Given the description of an element on the screen output the (x, y) to click on. 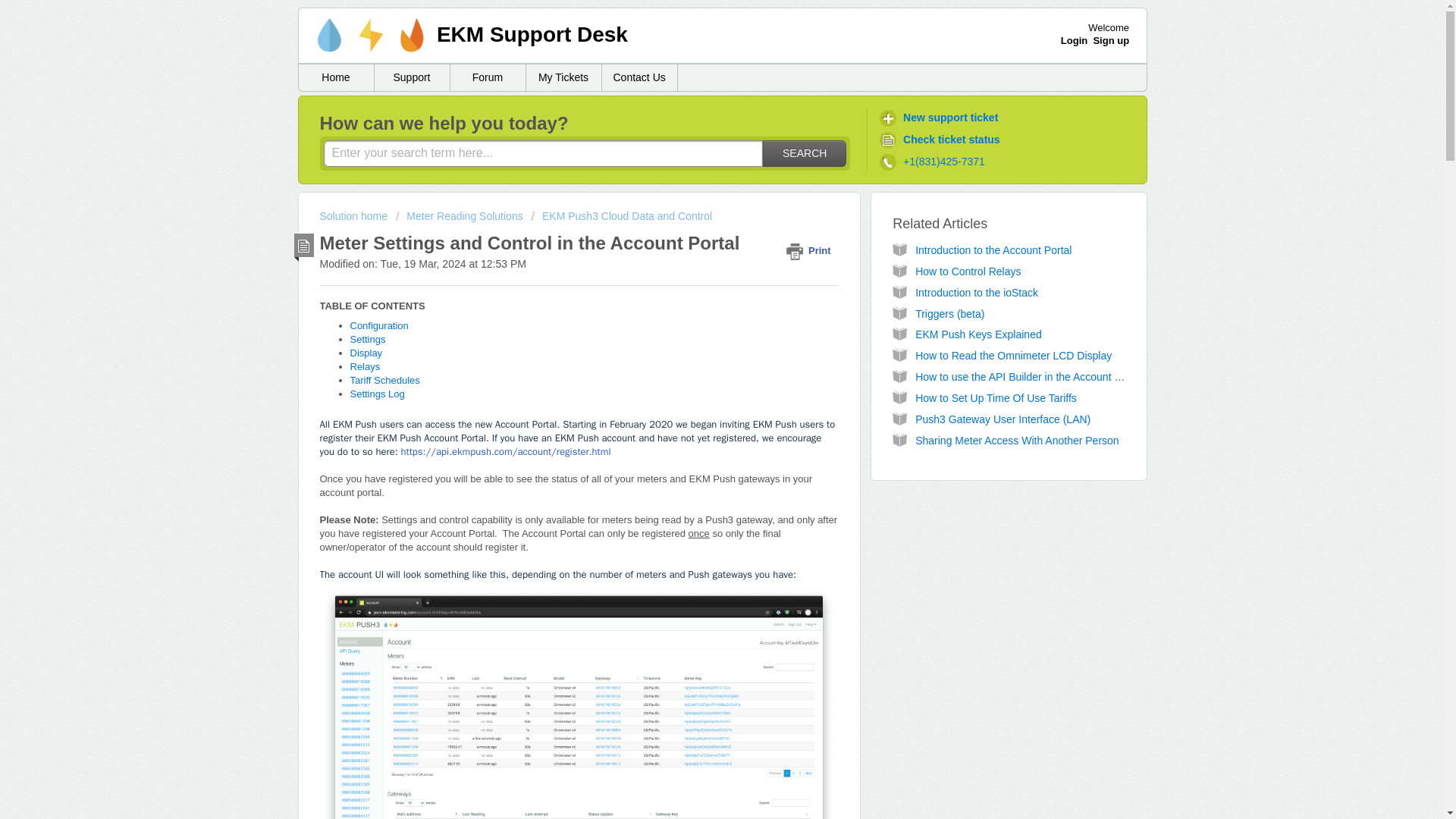
Chat (1406, 779)
New support ticket (940, 117)
Meter Reading Solutions (459, 215)
Support (411, 77)
Tariff Schedules (385, 379)
Relays (365, 366)
Print (812, 250)
Display (366, 352)
Sign up (1111, 40)
Check ticket status (941, 139)
Introduction to the ioStack (976, 292)
Home (336, 77)
Check ticket status (941, 139)
Forum (487, 77)
Configuration (379, 325)
